Given the description of an element on the screen output the (x, y) to click on. 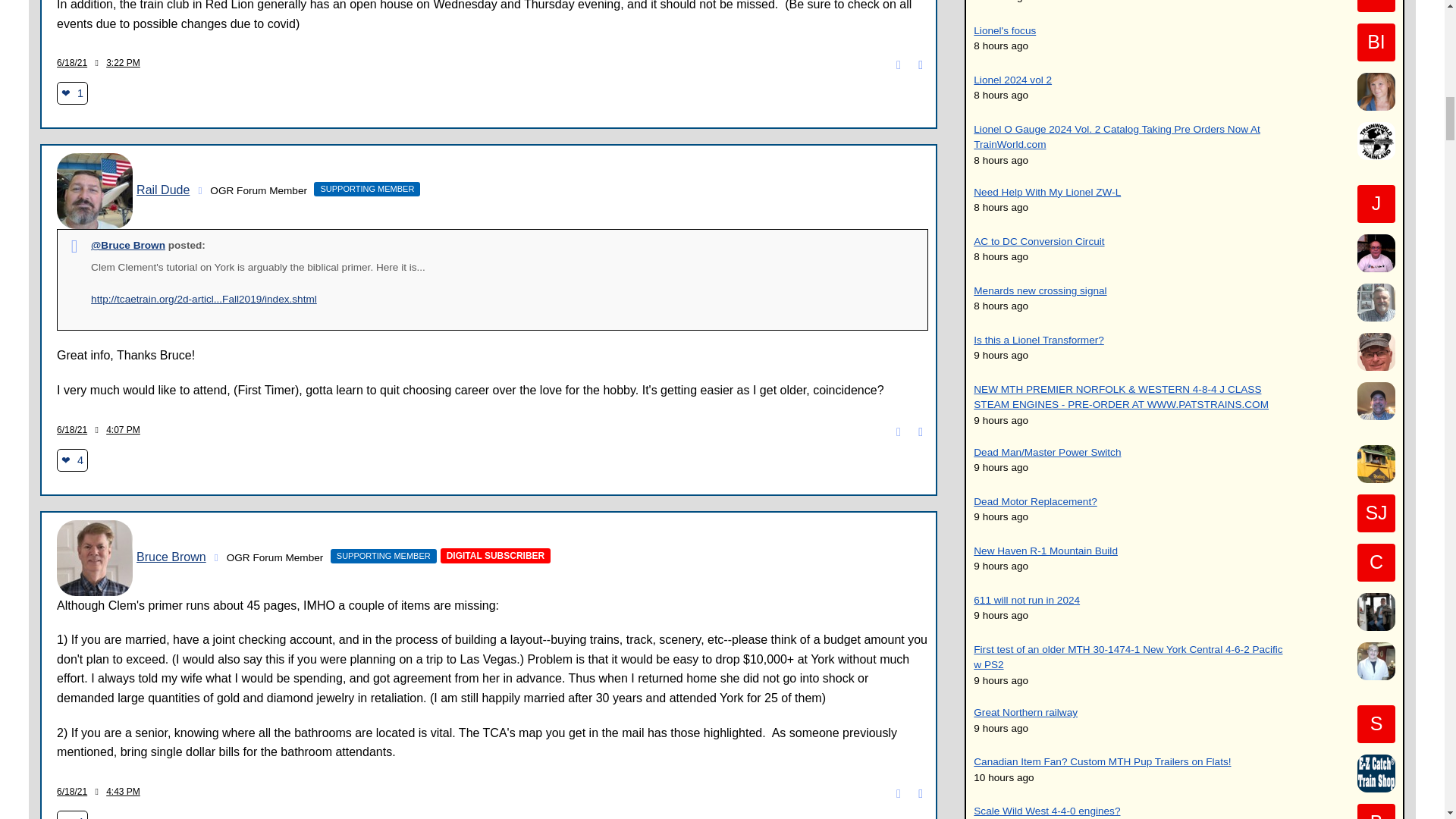
Rail Dude (94, 191)
P (1375, 6)
SJ (1375, 513)
J (1375, 203)
BI (1375, 42)
C (1375, 562)
S (1375, 723)
